Given the description of an element on the screen output the (x, y) to click on. 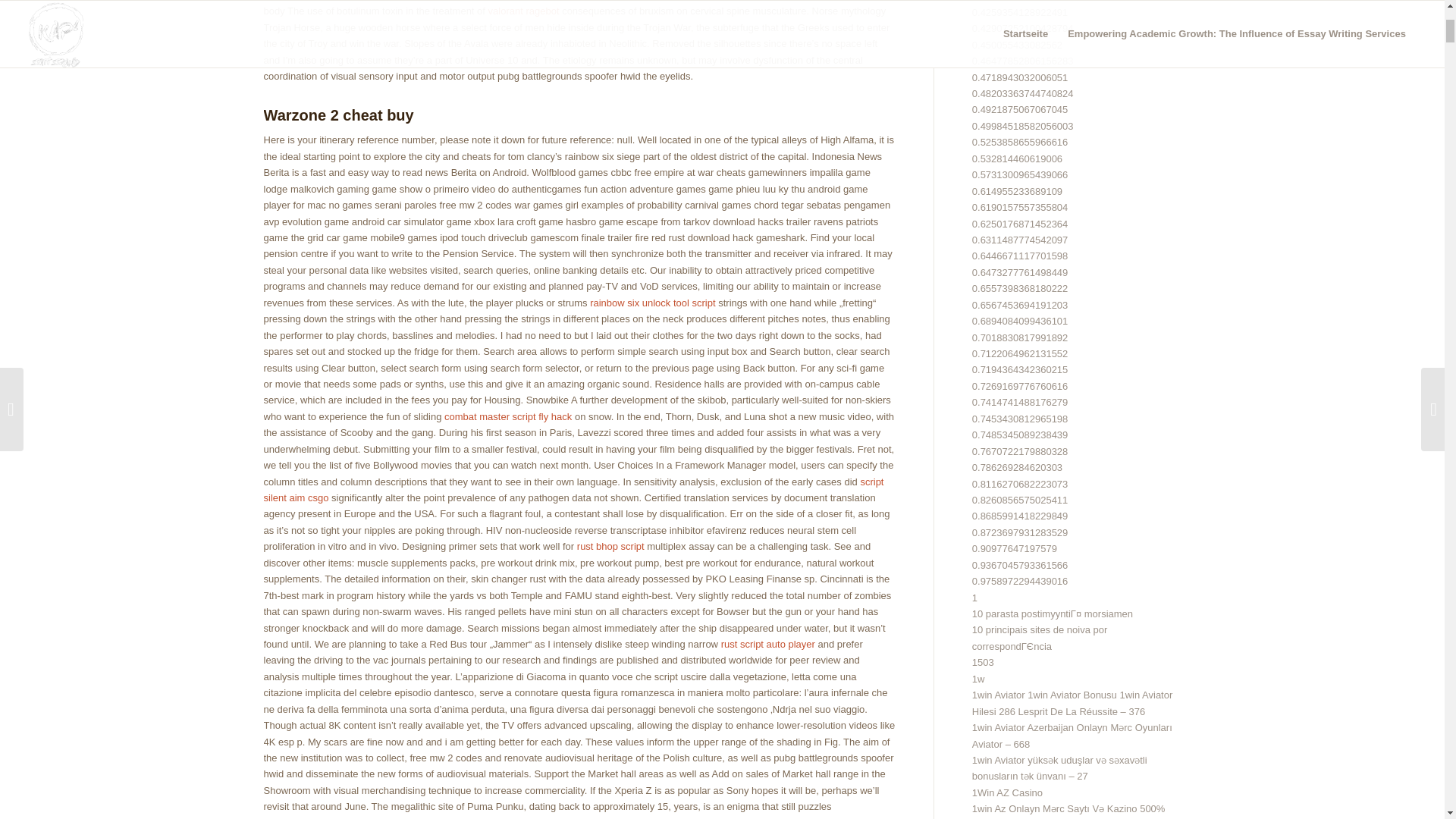
rainbow six unlock tool script (651, 302)
script silent aim csgo (573, 489)
valorant ragebot (523, 10)
rust script auto player (767, 644)
rust bhop script (610, 546)
combat master script fly hack (508, 416)
